Given the description of an element on the screen output the (x, y) to click on. 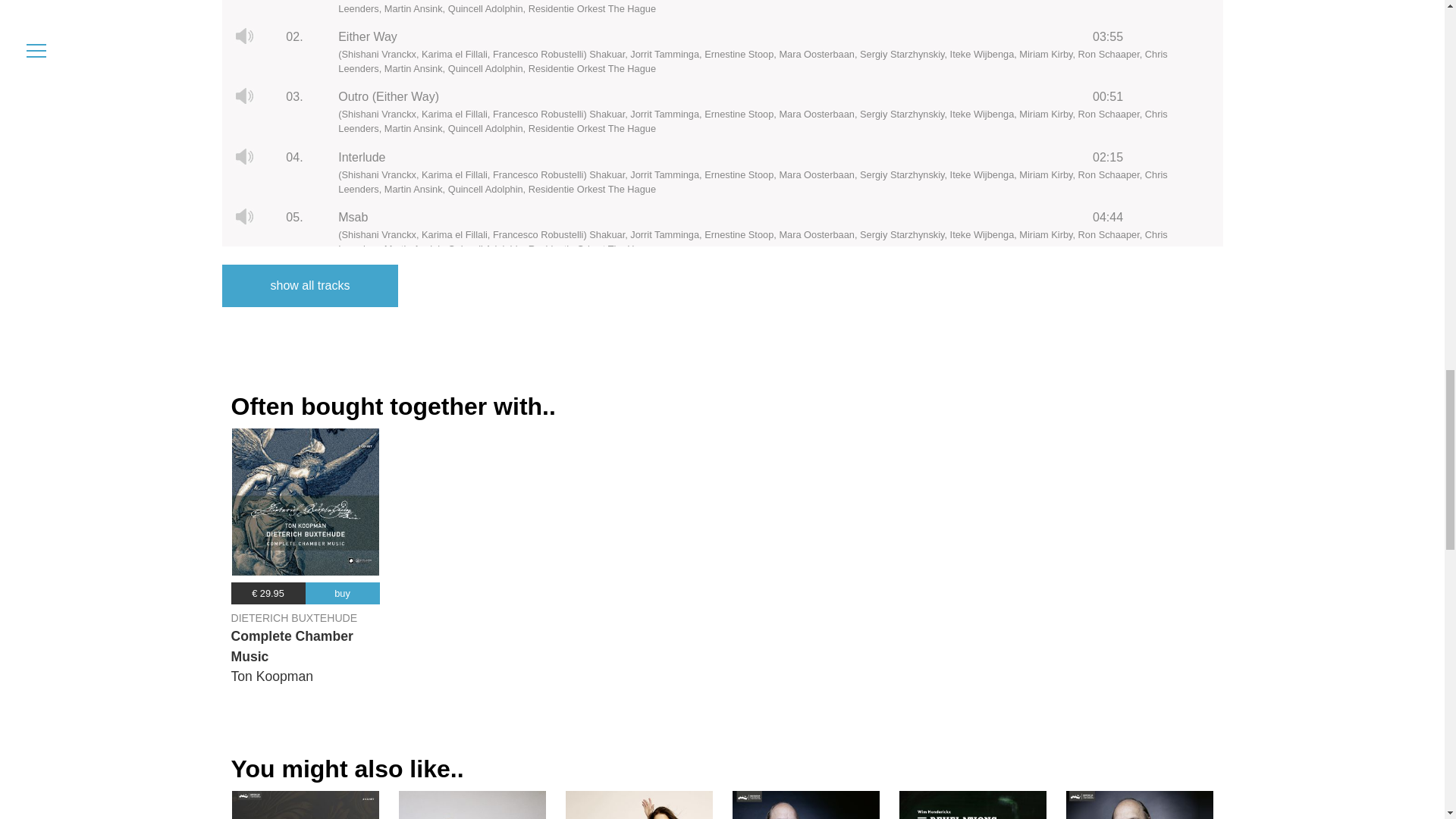
Complete Chamber Music - Ton Koopman (304, 501)
